Given the description of an element on the screen output the (x, y) to click on. 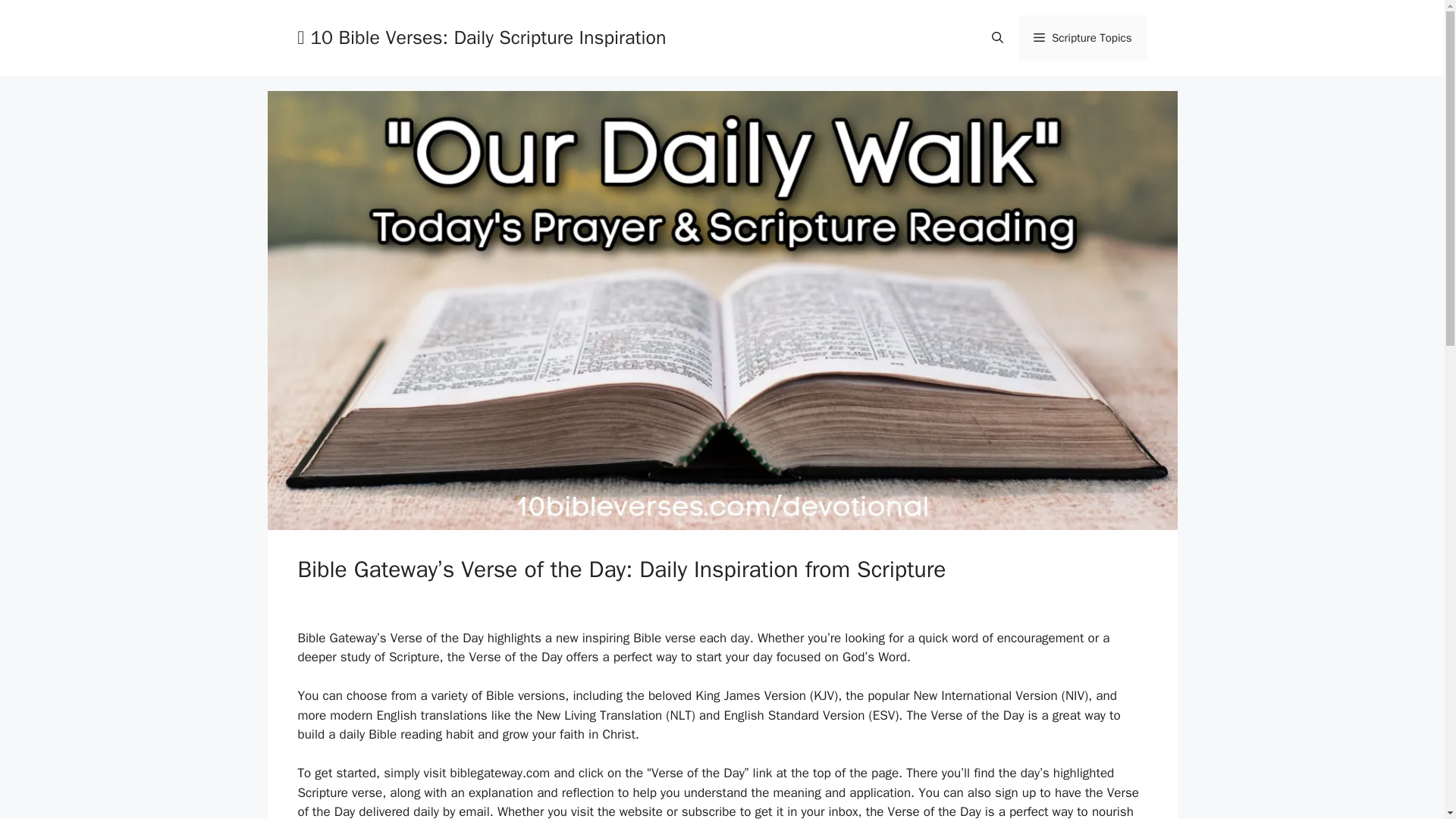
Scripture Topics (1082, 37)
